Given the description of an element on the screen output the (x, y) to click on. 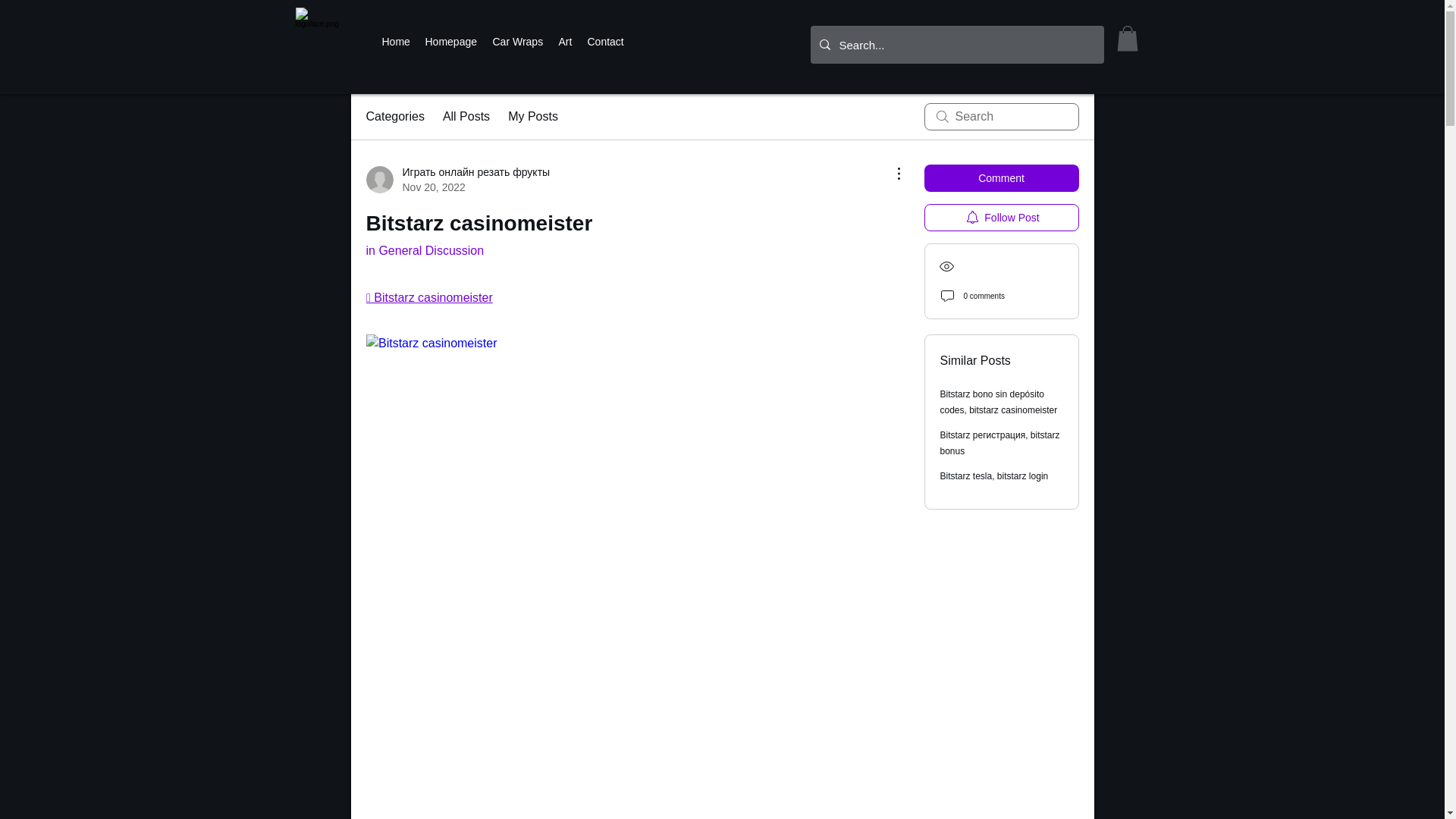
Home (395, 41)
Art (564, 41)
Contact (604, 41)
Homepage (450, 41)
Car Wraps (517, 41)
